Given the description of an element on the screen output the (x, y) to click on. 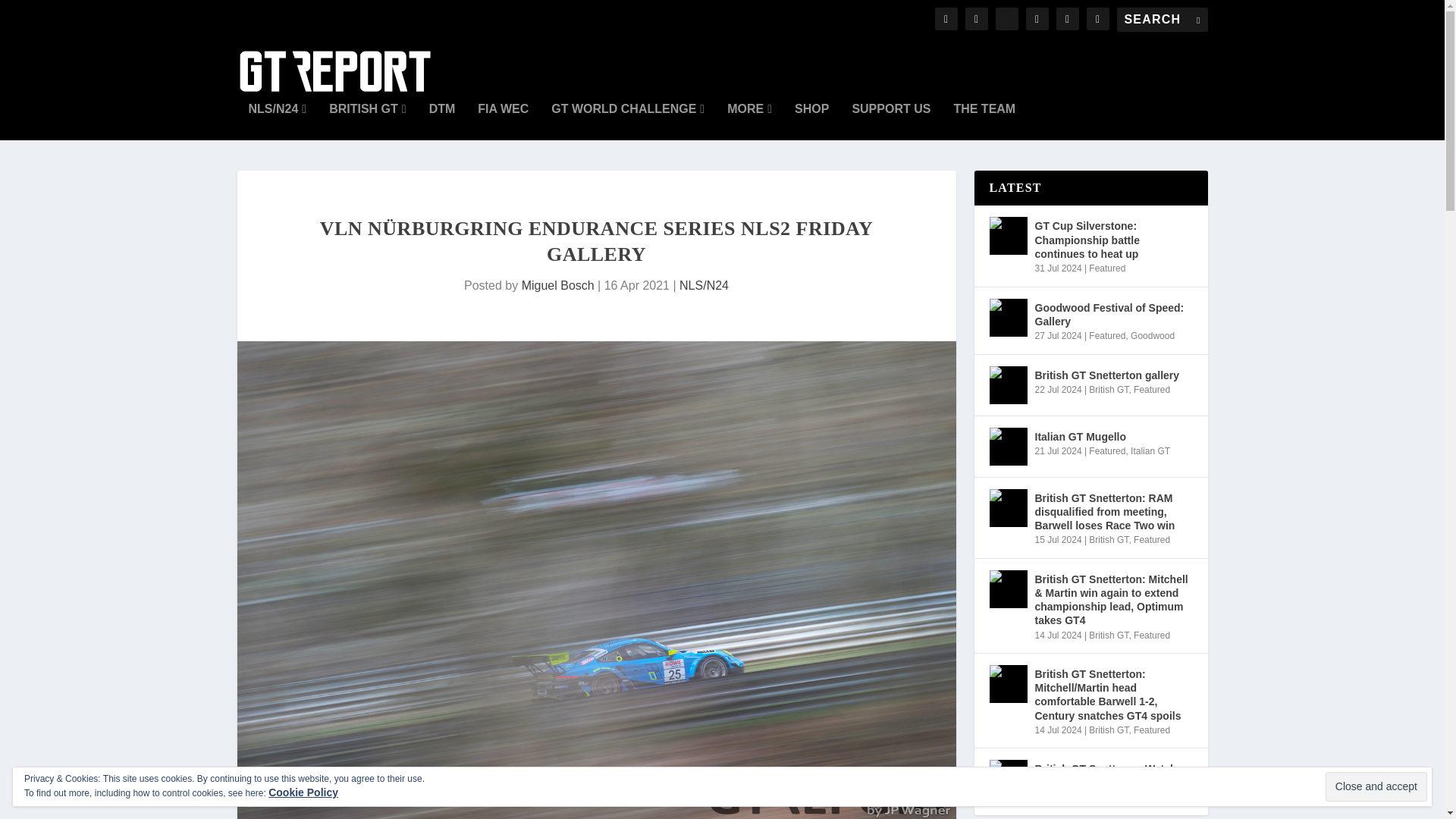
Posts by Miguel Bosch (557, 285)
Close and accept (1375, 786)
FIA WEC (502, 121)
Search for: (1161, 19)
GT WORLD CHALLENGE (627, 121)
SUPPORT US (890, 121)
SHOP (811, 121)
BRITISH GT (367, 121)
MORE (748, 121)
